Given the description of an element on the screen output the (x, y) to click on. 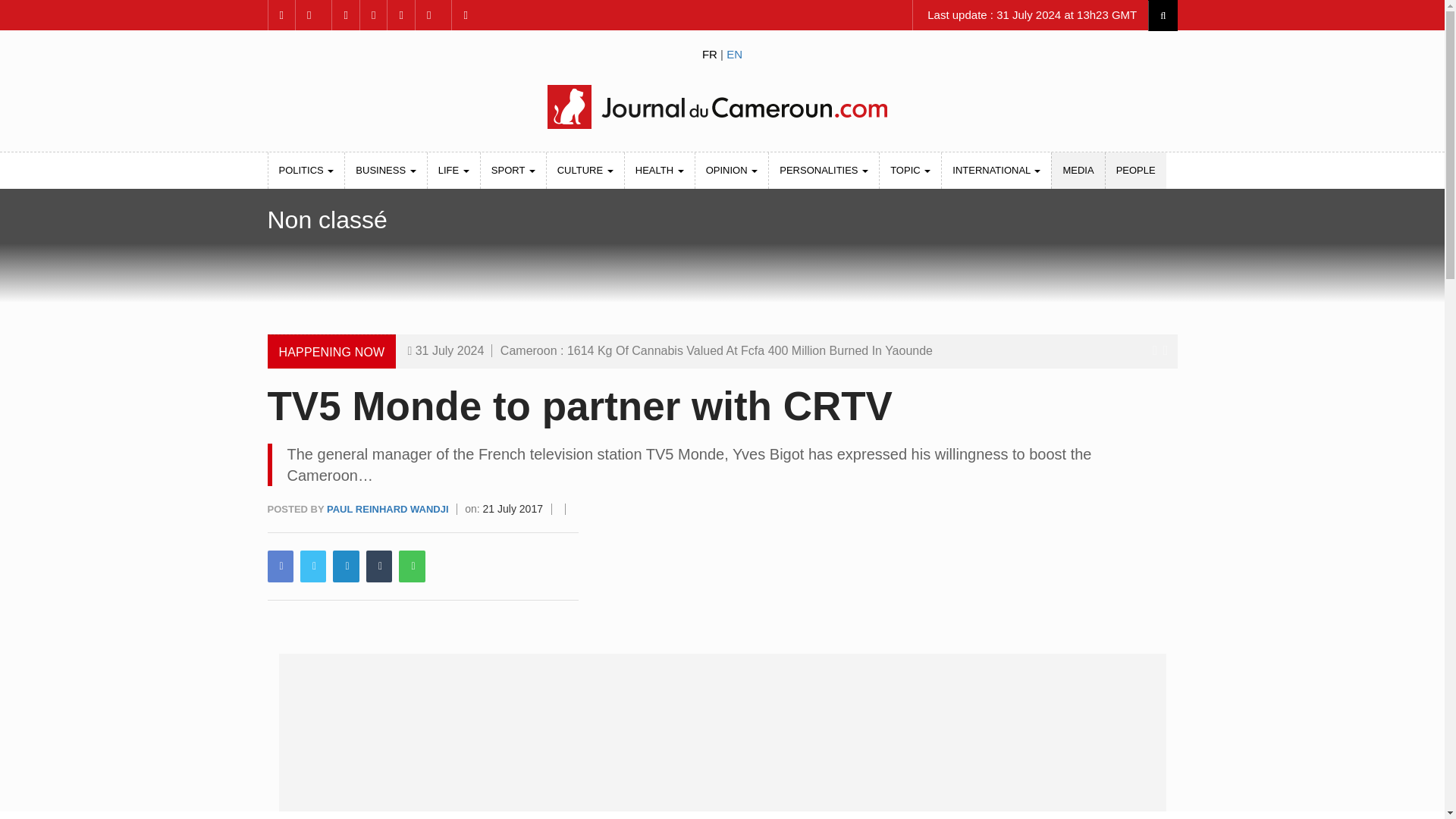
BUSINESS (385, 170)
POLITICS (306, 170)
EN (734, 53)
JDC (721, 106)
FR (709, 53)
Last update : 31 July 2024 at 13h23 GMT (1030, 15)
